Given the description of an element on the screen output the (x, y) to click on. 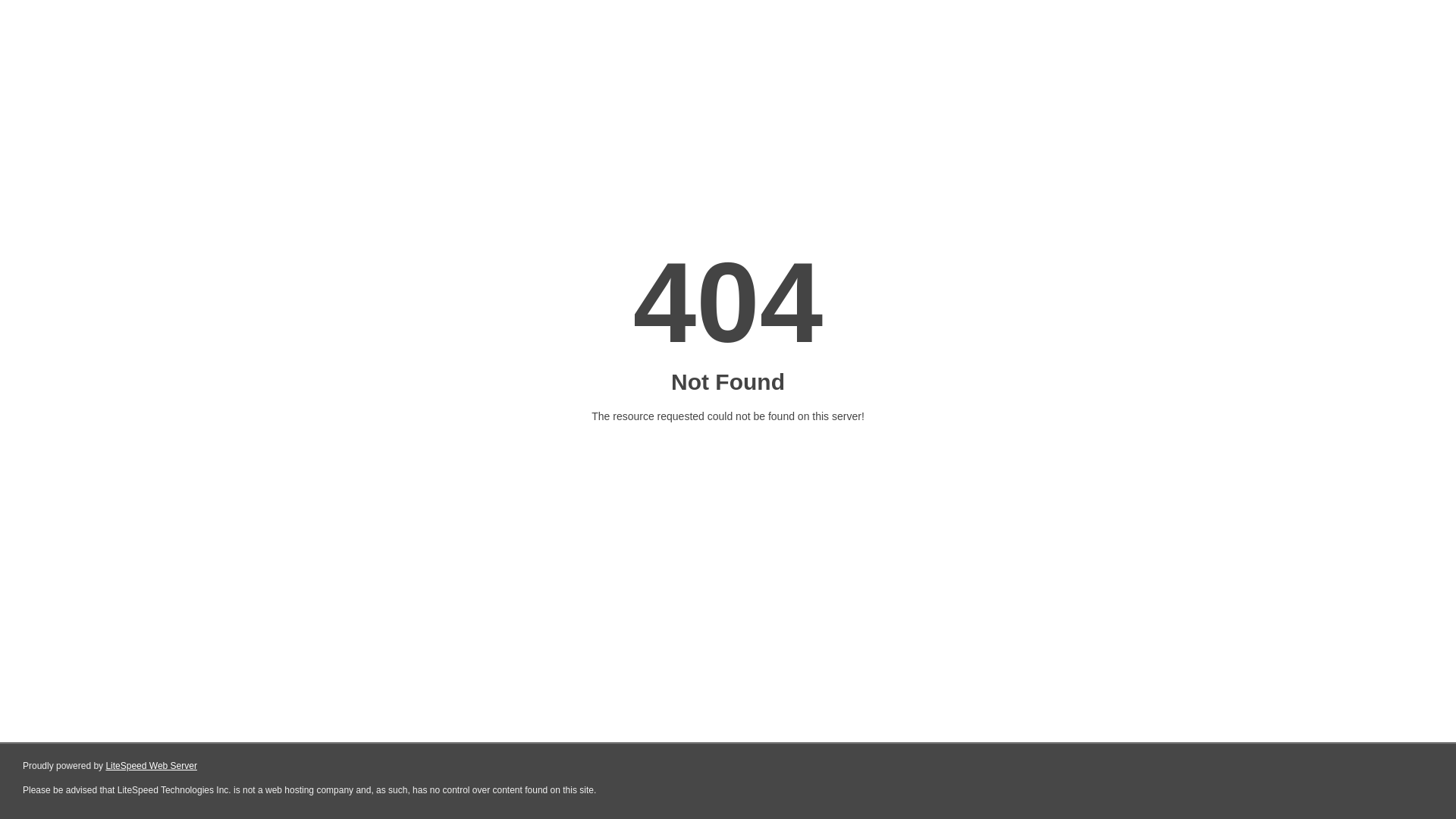
LiteSpeed Web Server Element type: text (151, 765)
